Given the description of an element on the screen output the (x, y) to click on. 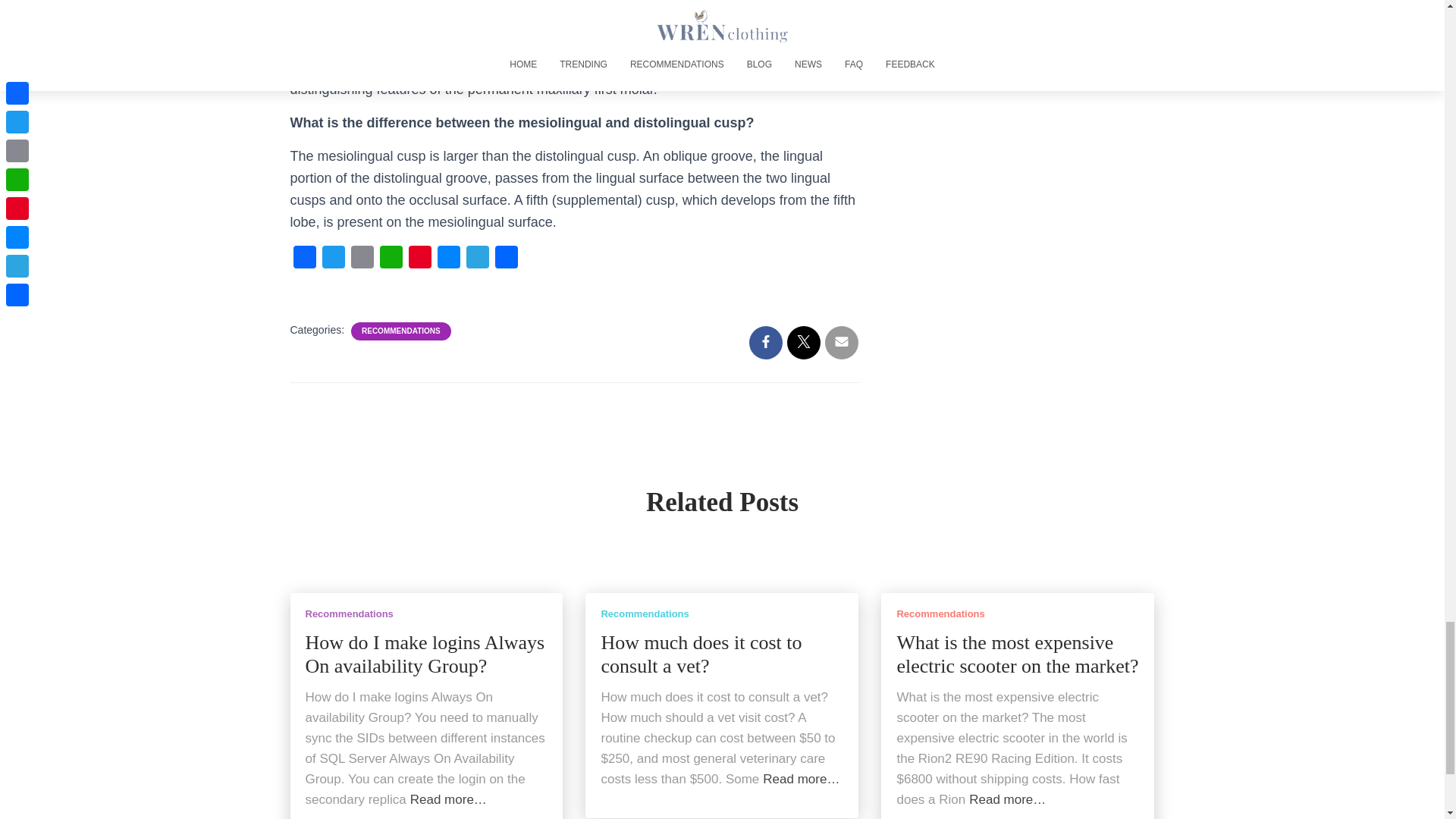
Pinterest (418, 260)
How do I make logins Always On availability Group? (424, 654)
Twitter (332, 260)
WhatsApp (389, 260)
Messenger (448, 260)
Twitter (332, 260)
Facebook (303, 260)
RECOMMENDATIONS (400, 330)
Email (361, 260)
WhatsApp (389, 260)
Telegram (477, 260)
Email (361, 260)
Pinterest (418, 260)
Recommendations (348, 613)
Facebook (303, 260)
